Given the description of an element on the screen output the (x, y) to click on. 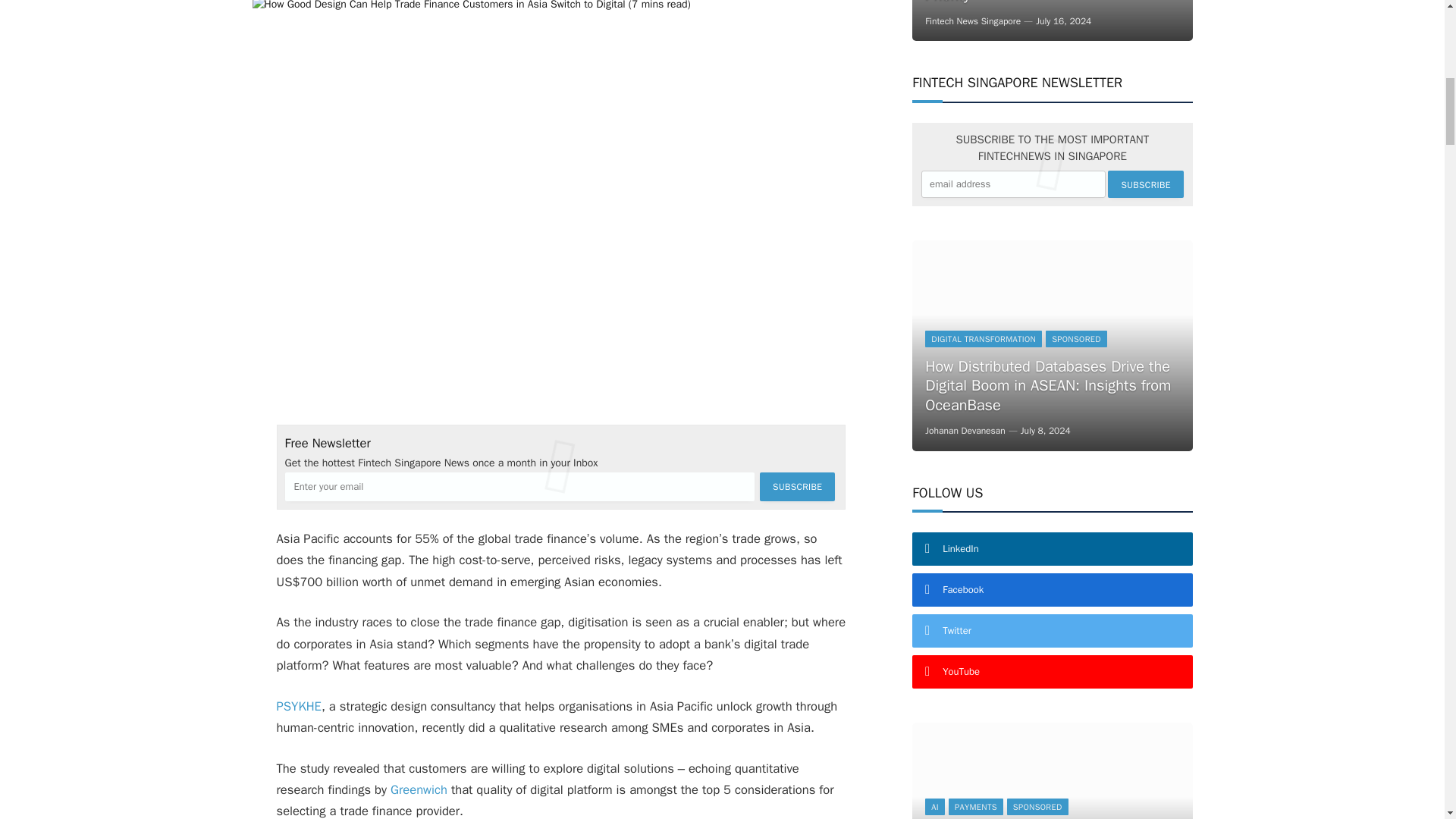
Subscribe (797, 486)
Subscribe (1145, 184)
